Given the description of an element on the screen output the (x, y) to click on. 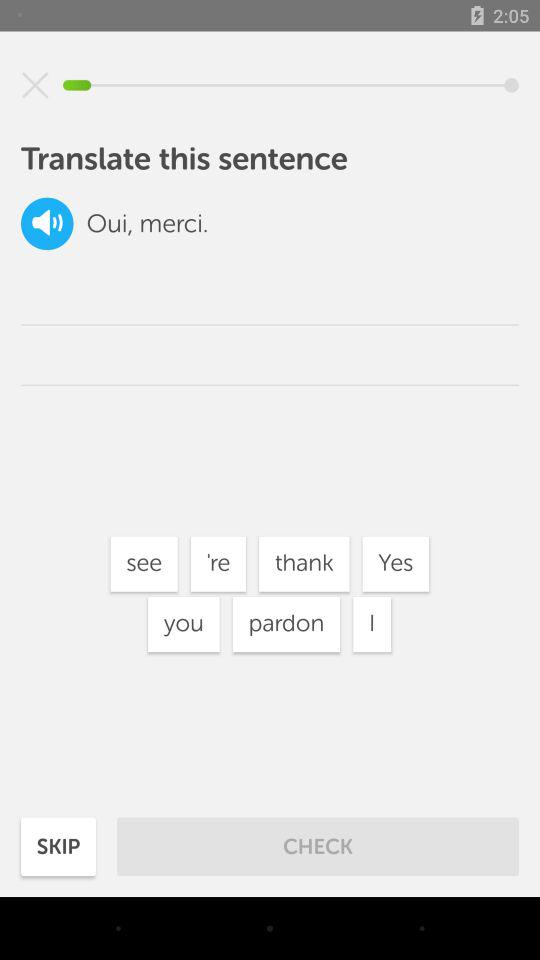
close out of this screen (35, 85)
